Given the description of an element on the screen output the (x, y) to click on. 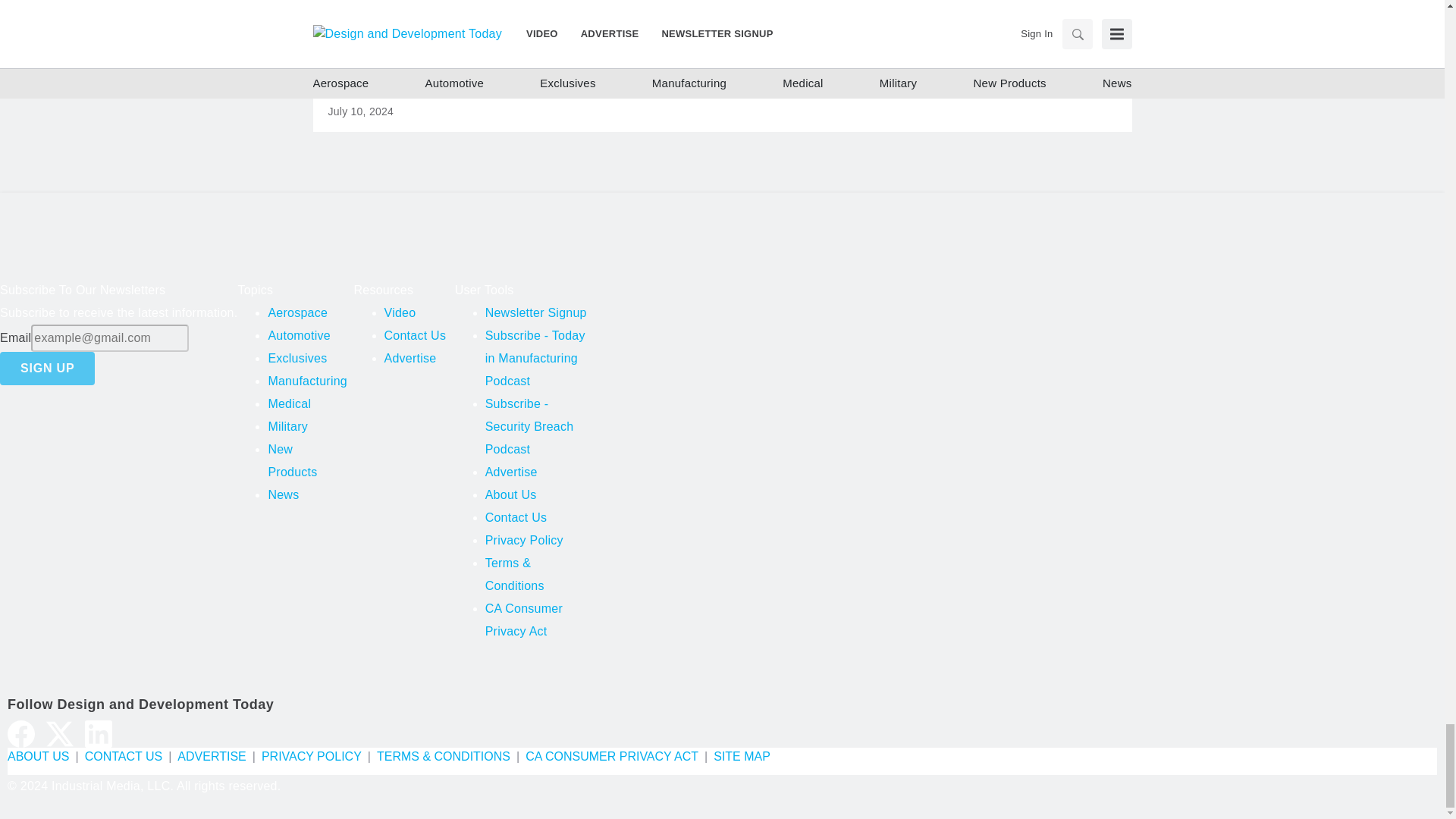
Facebook icon (20, 733)
LinkedIn icon (98, 733)
Twitter X icon (60, 733)
